Given the description of an element on the screen output the (x, y) to click on. 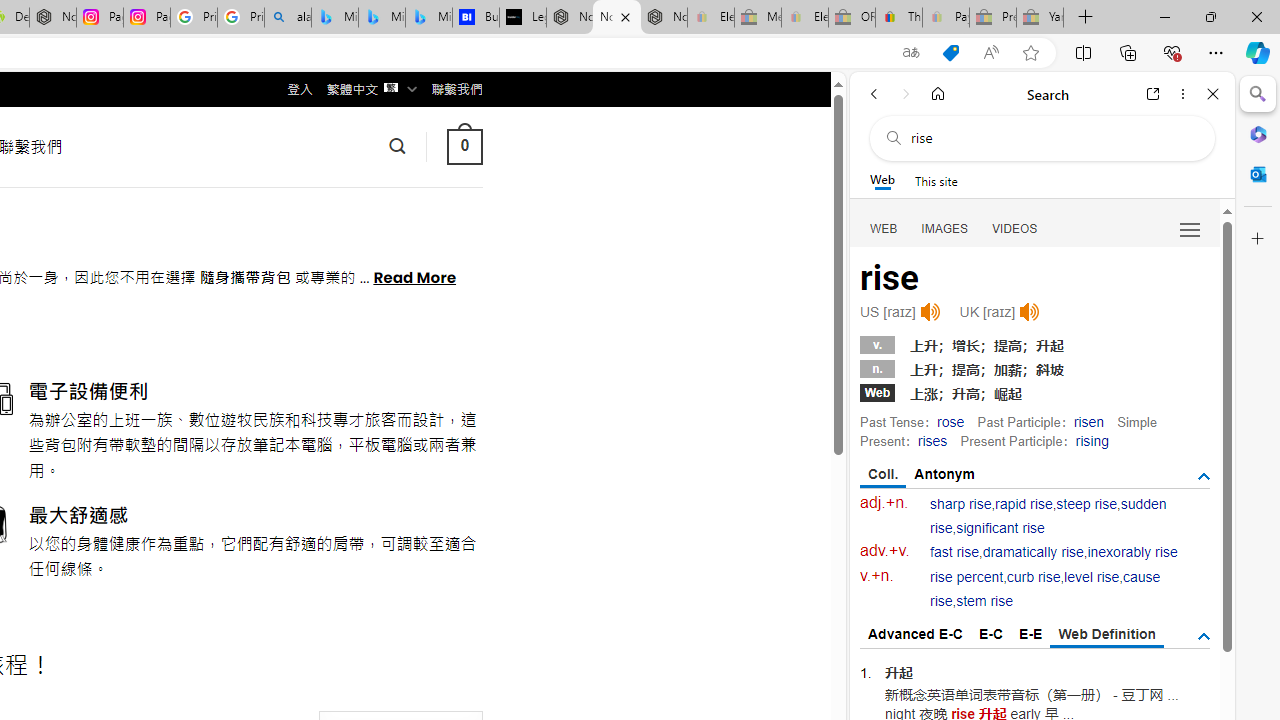
Web Definition (1106, 635)
Microsoft Bing Travel - Flights from Hong Kong to Bangkok (335, 17)
fast rise (955, 552)
Payments Terms of Use | eBay.com - Sleeping (945, 17)
E-C (991, 633)
rises (932, 440)
stem rise (984, 601)
Yard, Garden & Outdoor Living - Sleeping (1040, 17)
curb rise (1033, 577)
  0   (464, 146)
Read More (414, 276)
